Given the description of an element on the screen output the (x, y) to click on. 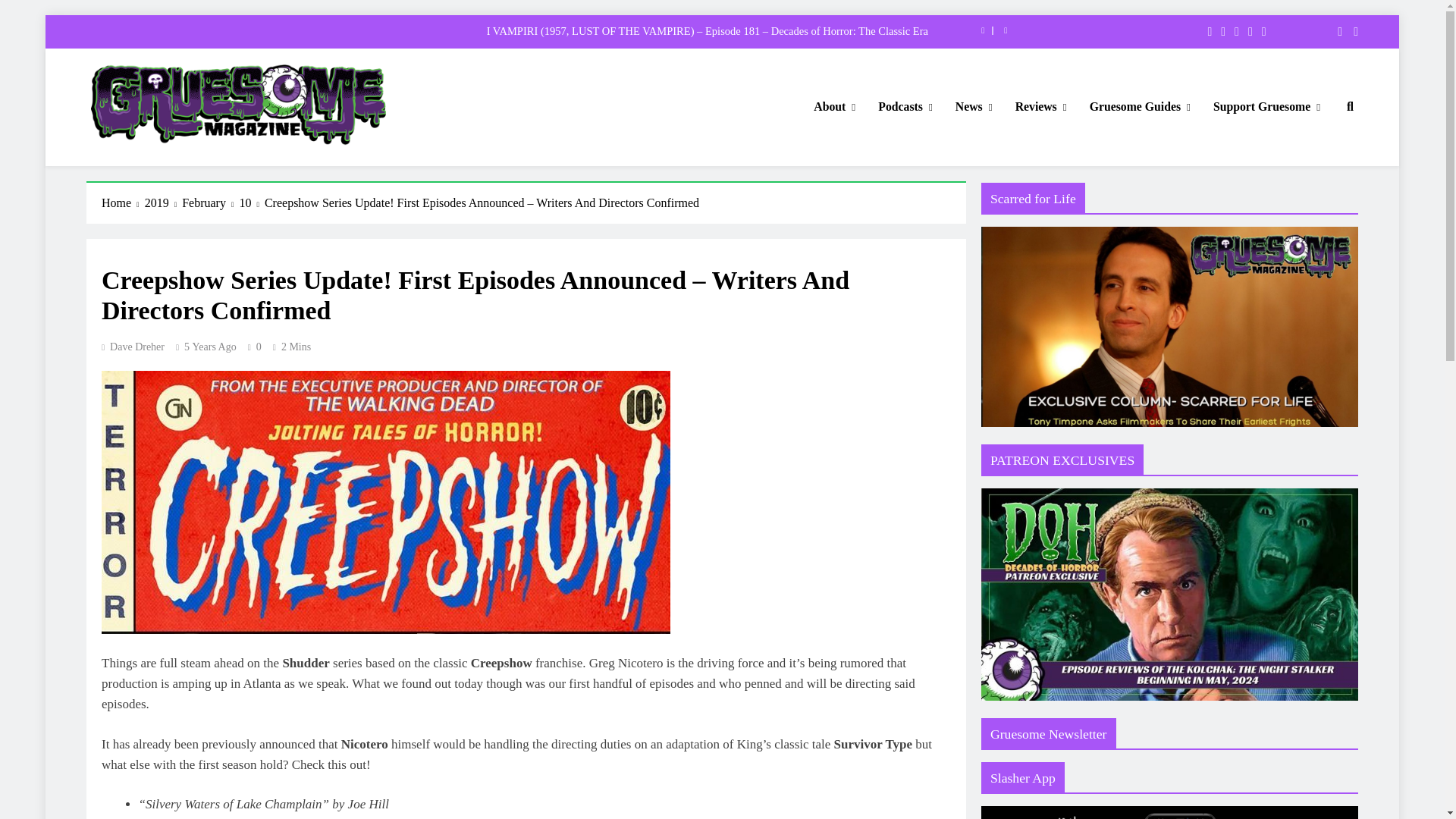
Guides to Theatrical and Streaming Movies (1140, 106)
News (973, 106)
About (834, 106)
Gruesome Magazine (187, 167)
Random News (1350, 31)
Newsletter (1334, 31)
Podcasts (904, 106)
